Given the description of an element on the screen output the (x, y) to click on. 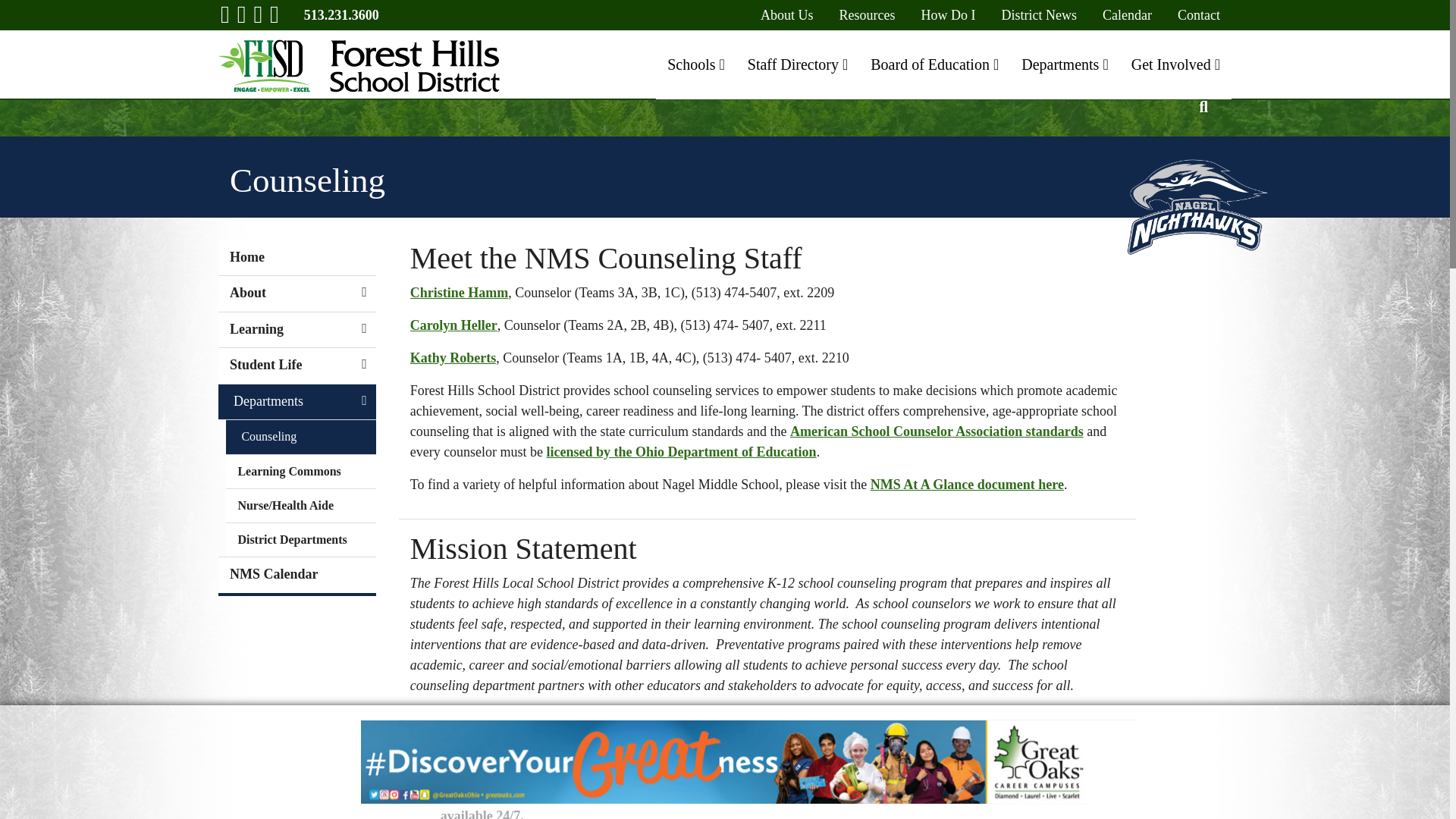
Contact (1198, 15)
How Do I (948, 15)
Resources (867, 15)
tel:5132313600 (341, 15)
513.231.3600 (341, 15)
Board of Education (934, 64)
Staff Directory (797, 64)
District News (1038, 15)
About Us (787, 15)
Calendar (1126, 15)
Schools (696, 64)
